Given the description of an element on the screen output the (x, y) to click on. 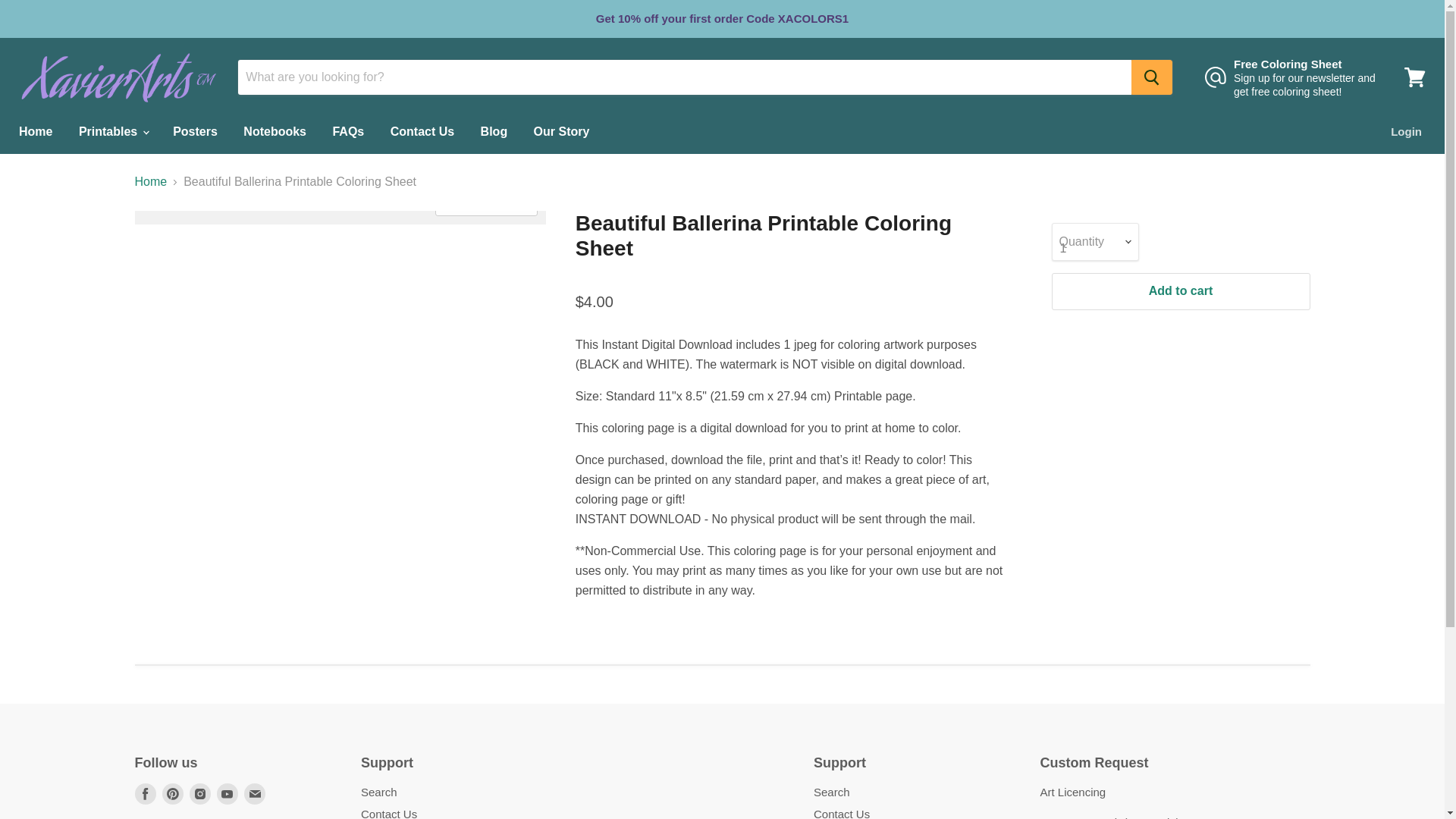
Our Story (561, 132)
Printables (112, 132)
Instagram (200, 793)
Contact Us (421, 132)
Login (1406, 132)
Notebooks (274, 132)
Blog (493, 132)
View cart (1414, 77)
Home (35, 132)
Facebook (145, 793)
Youtube (227, 793)
Pinterest (172, 793)
FAQs (347, 132)
Posters (194, 132)
Email (254, 793)
